Given the description of an element on the screen output the (x, y) to click on. 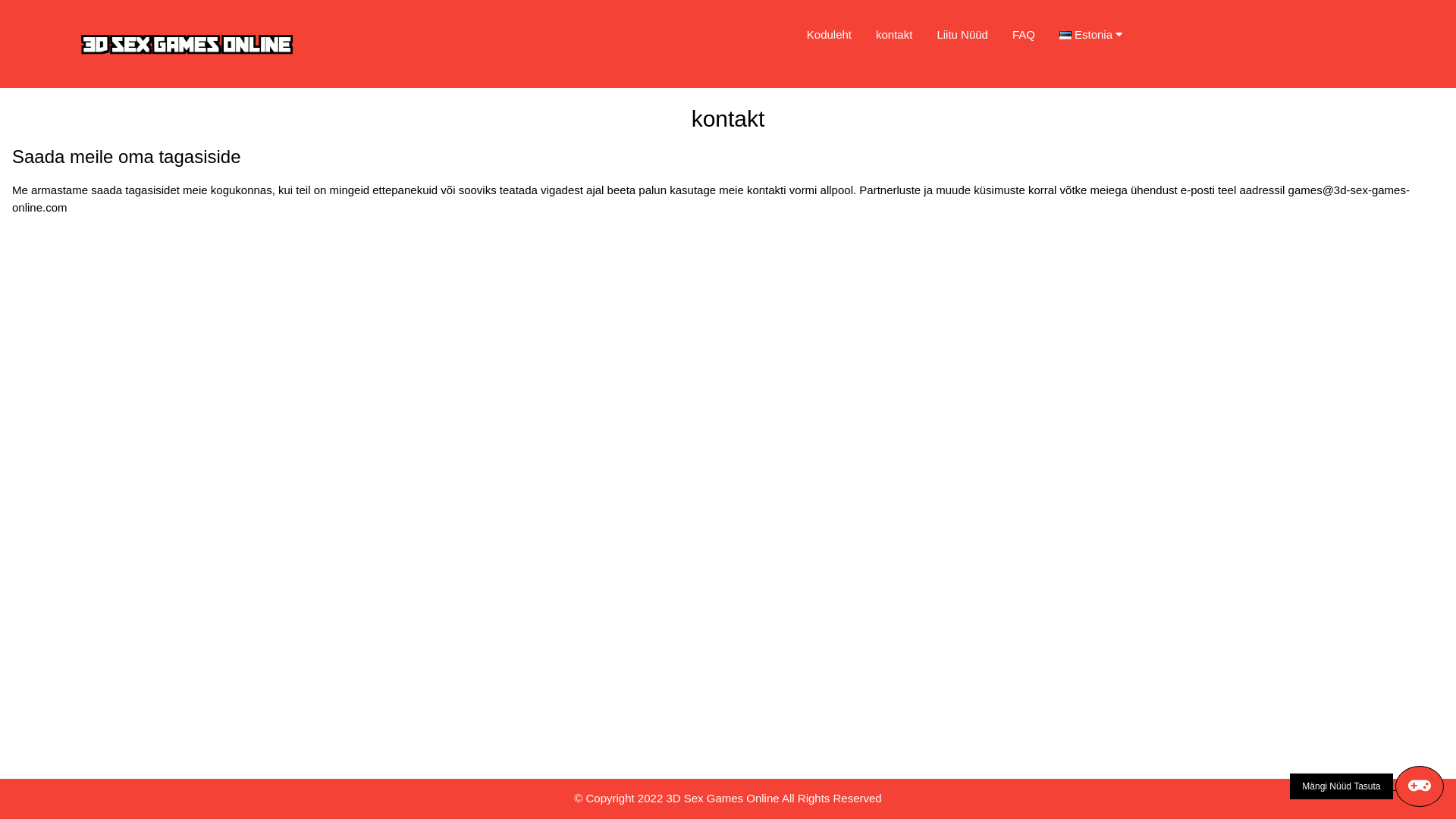
kontakt Element type: text (893, 35)
Koduleht Element type: text (828, 35)
FAQ Element type: text (1023, 35)
Estonia Element type: text (1096, 35)
